Given the description of an element on the screen output the (x, y) to click on. 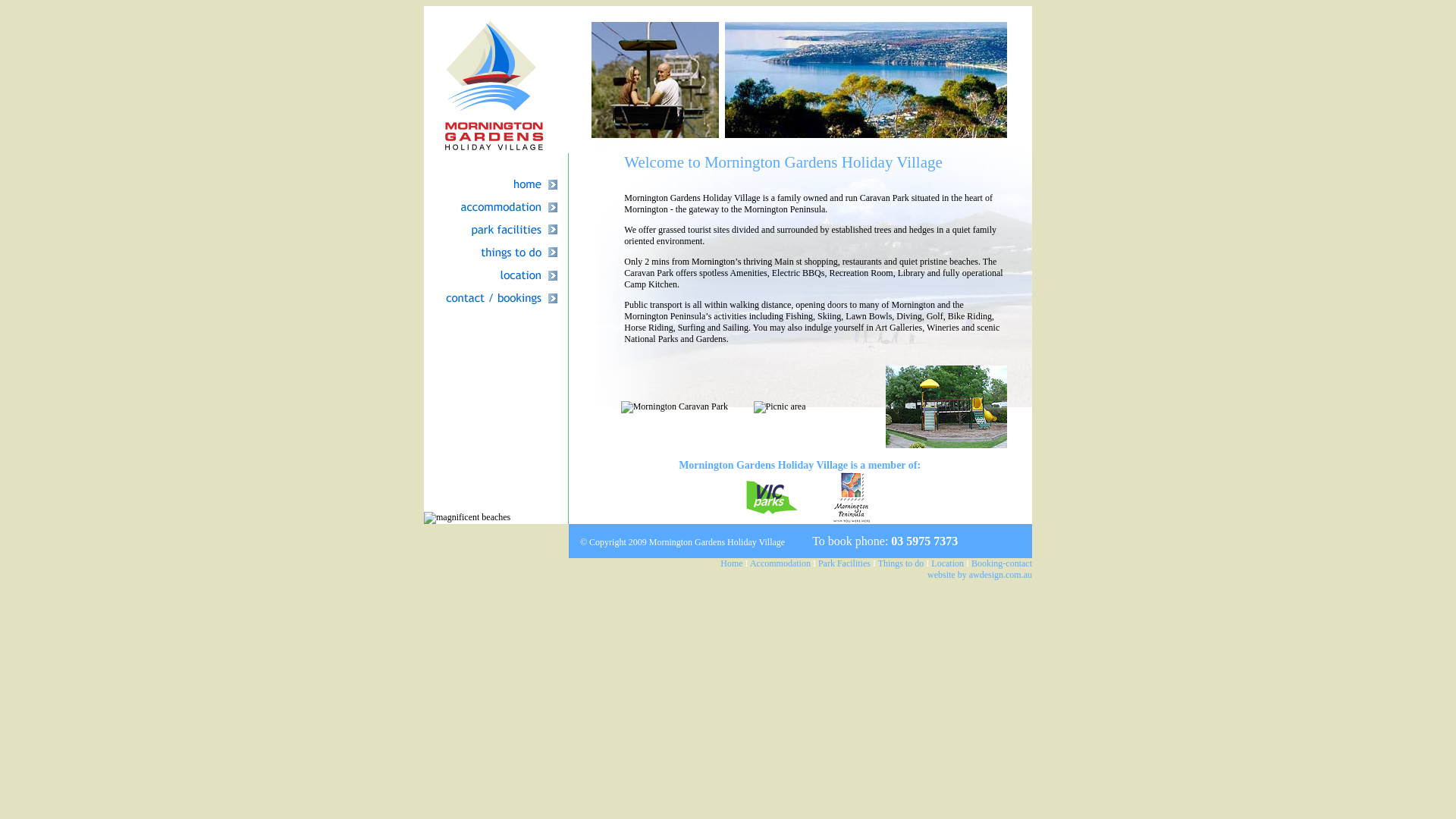
website by awdesign.com.au Element type: text (979, 574)
Accommodation Element type: text (779, 563)
Booking-contact Element type: text (1001, 563)
Location I Element type: text (950, 563)
I Things to do Element type: text (897, 563)
Home I Element type: text (733, 563)
I Park Facilities Element type: text (841, 563)
